Given the description of an element on the screen output the (x, y) to click on. 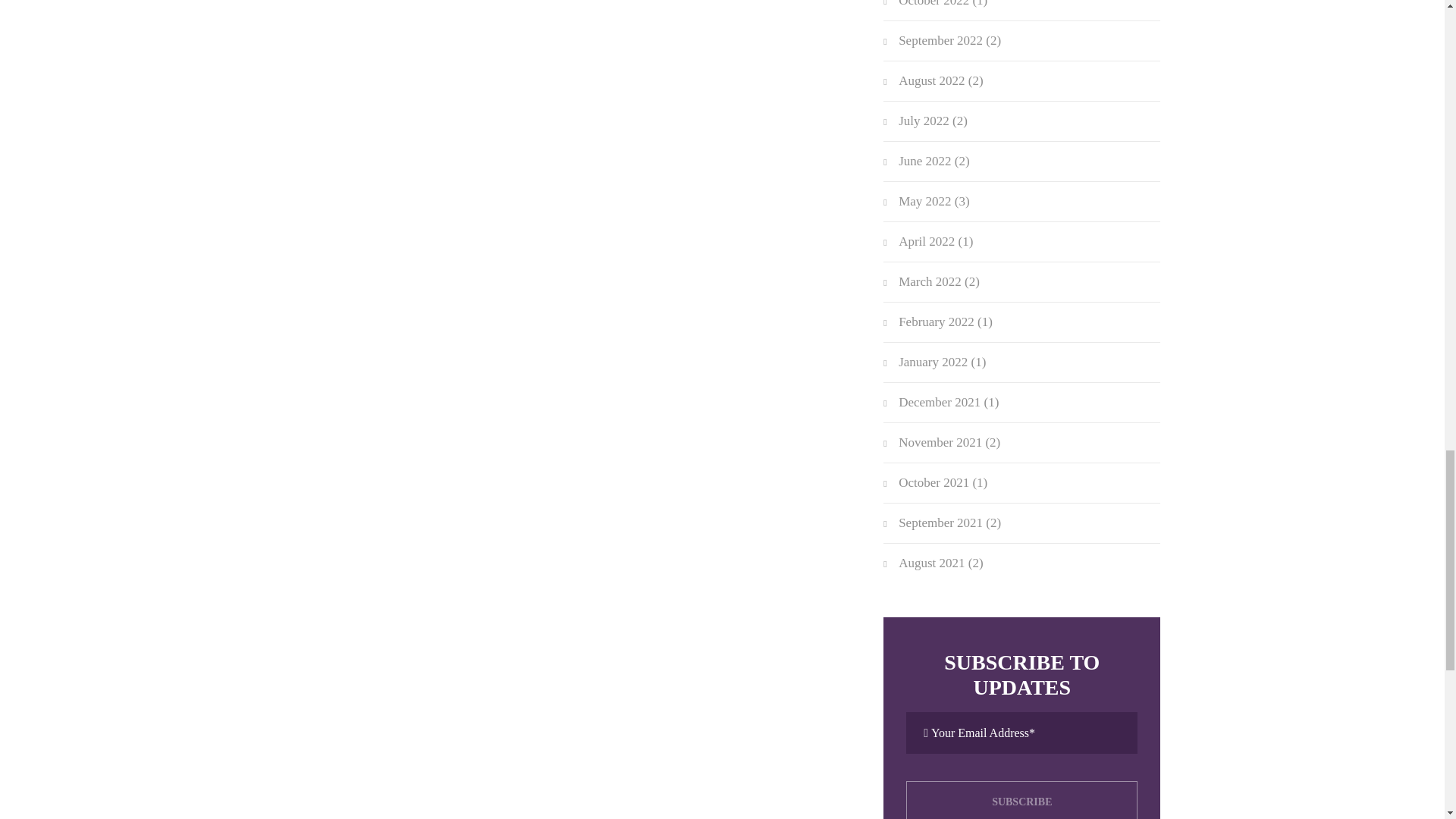
subscribe (1021, 800)
